Given the description of an element on the screen output the (x, y) to click on. 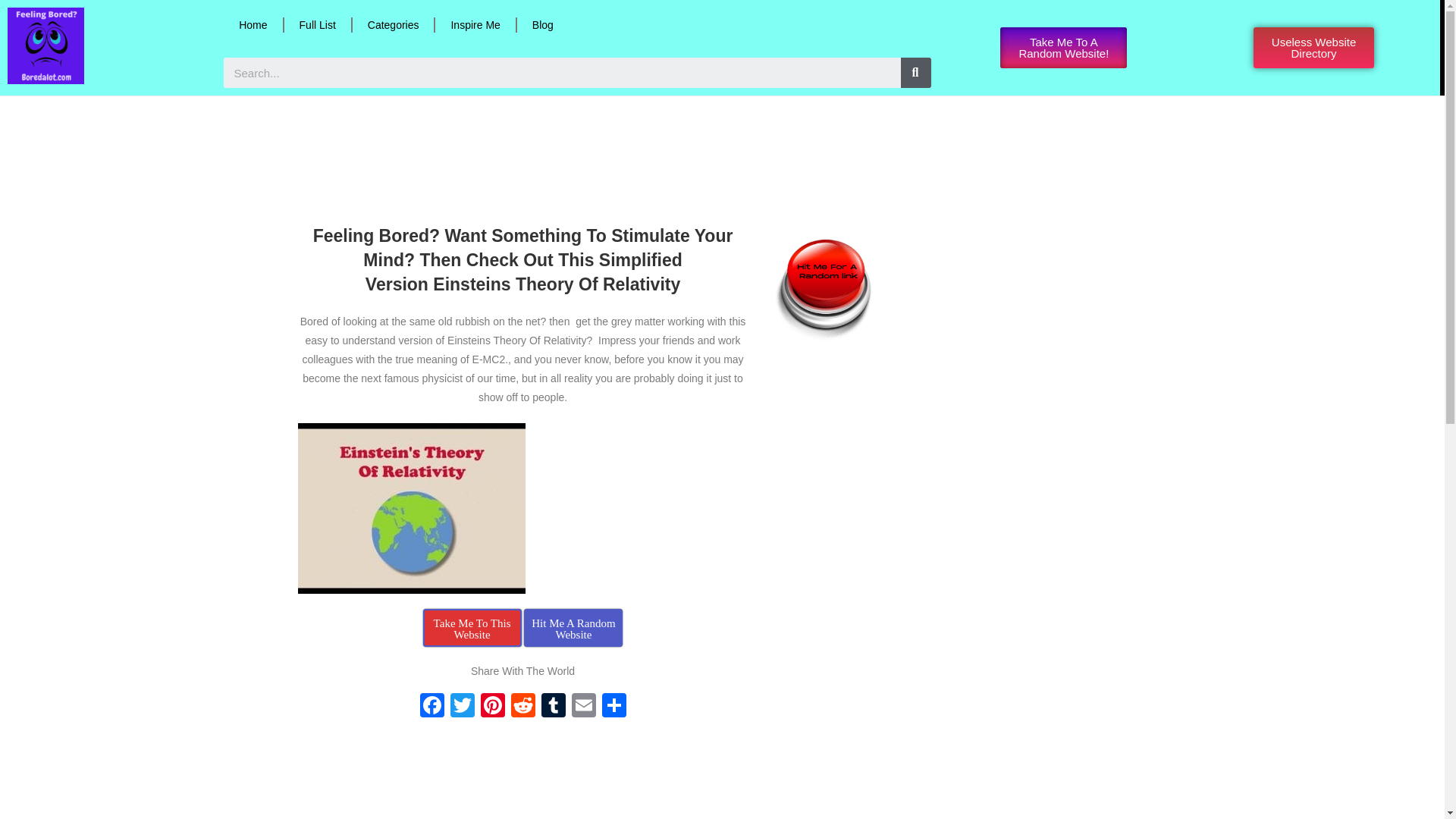
Full List (316, 24)
Facebook (431, 706)
Inspire Me (475, 24)
Search (562, 72)
Blog (542, 24)
Twitter (461, 706)
Tumblr (553, 706)
Search (916, 72)
Home (253, 24)
Reddit (523, 706)
